Given the description of an element on the screen output the (x, y) to click on. 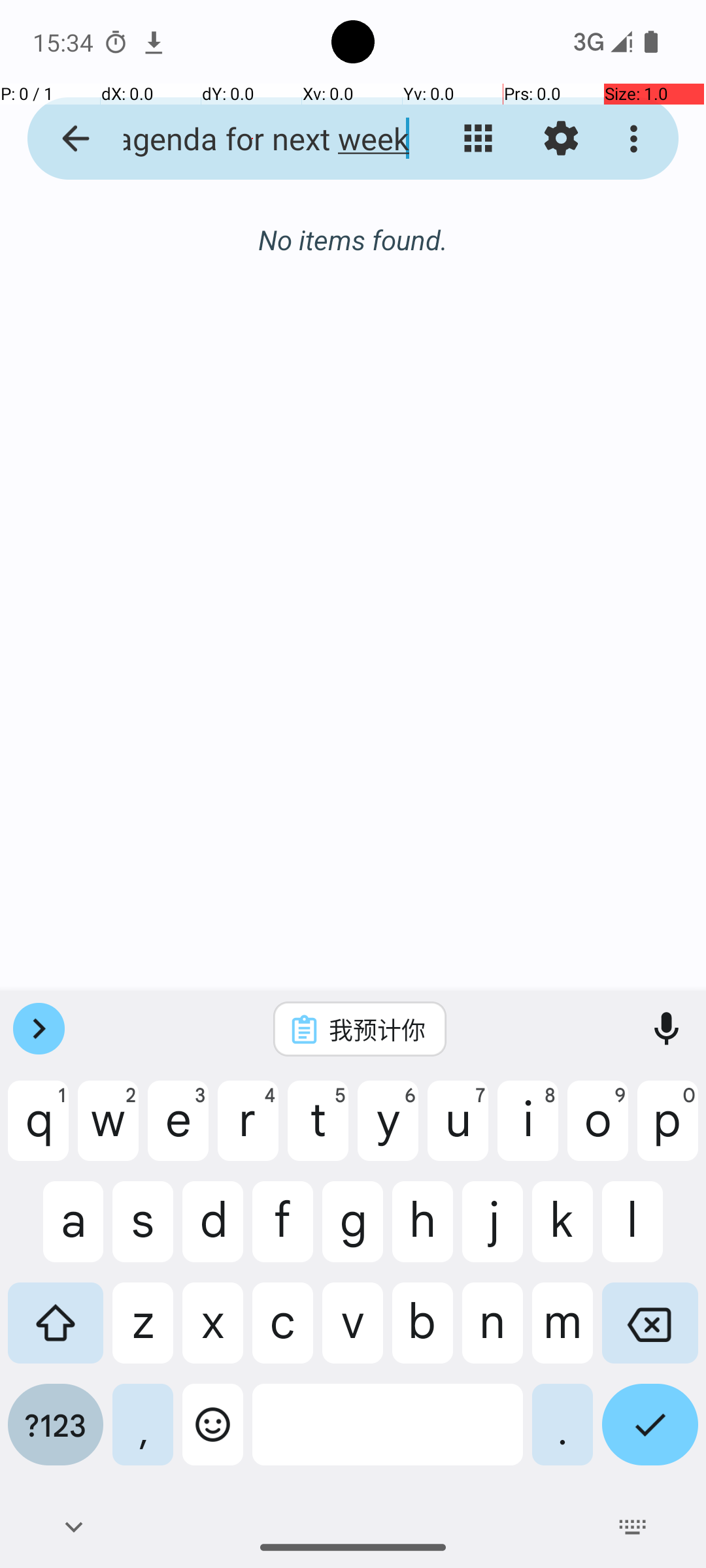
meeting agenda for next week Element type: android.widget.EditText (252, 138)
我预计你 Element type: android.widget.TextView (376, 1028)
